Given the description of an element on the screen output the (x, y) to click on. 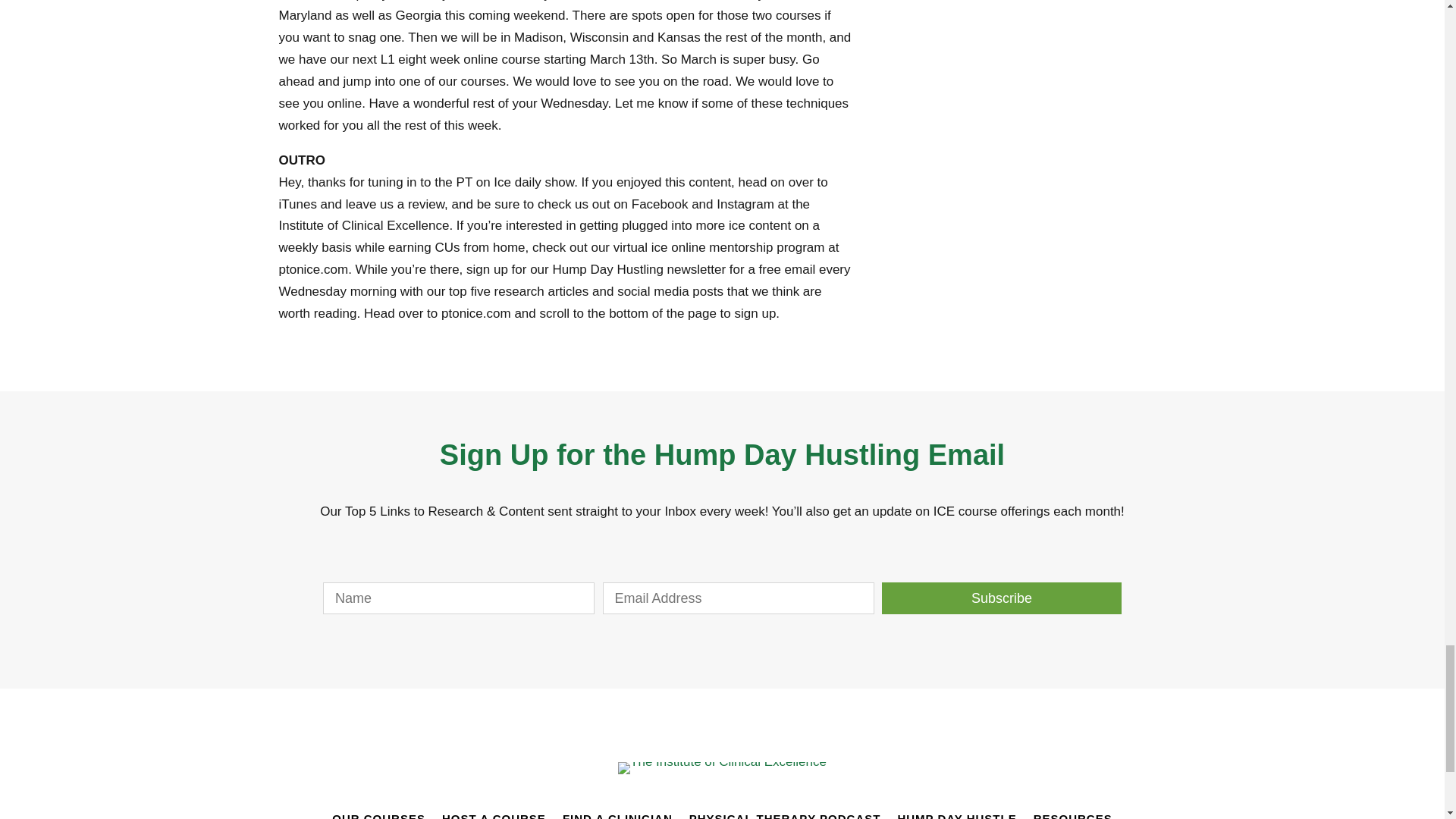
The Institute of Clinical Excellence (722, 767)
